Given the description of an element on the screen output the (x, y) to click on. 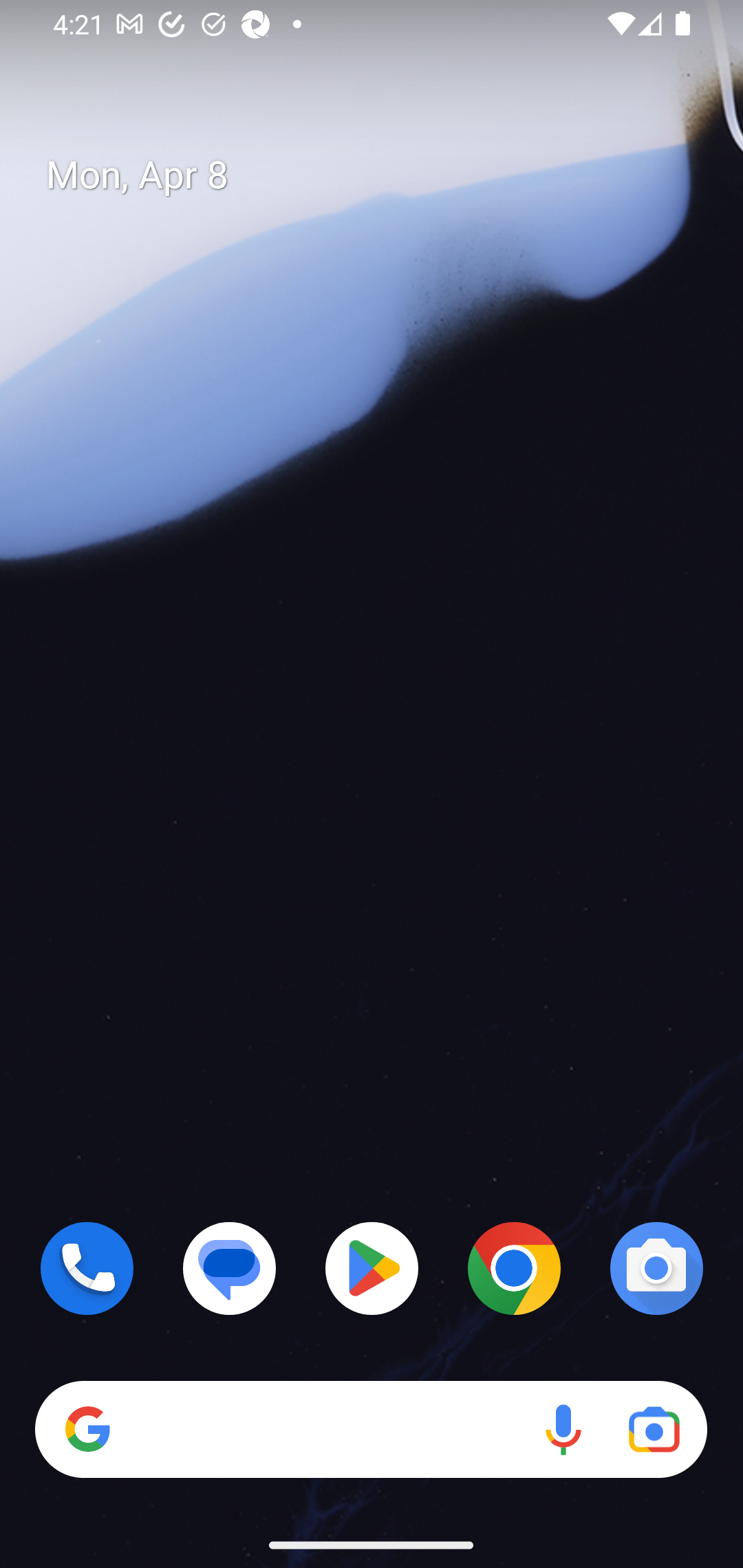
Mon, Apr 8 (386, 175)
Phone (86, 1268)
Messages (229, 1268)
Play Store (371, 1268)
Chrome (513, 1268)
Camera (656, 1268)
Search Voice search Google Lens (370, 1429)
Voice search (562, 1429)
Google Lens (653, 1429)
